Given the description of an element on the screen output the (x, y) to click on. 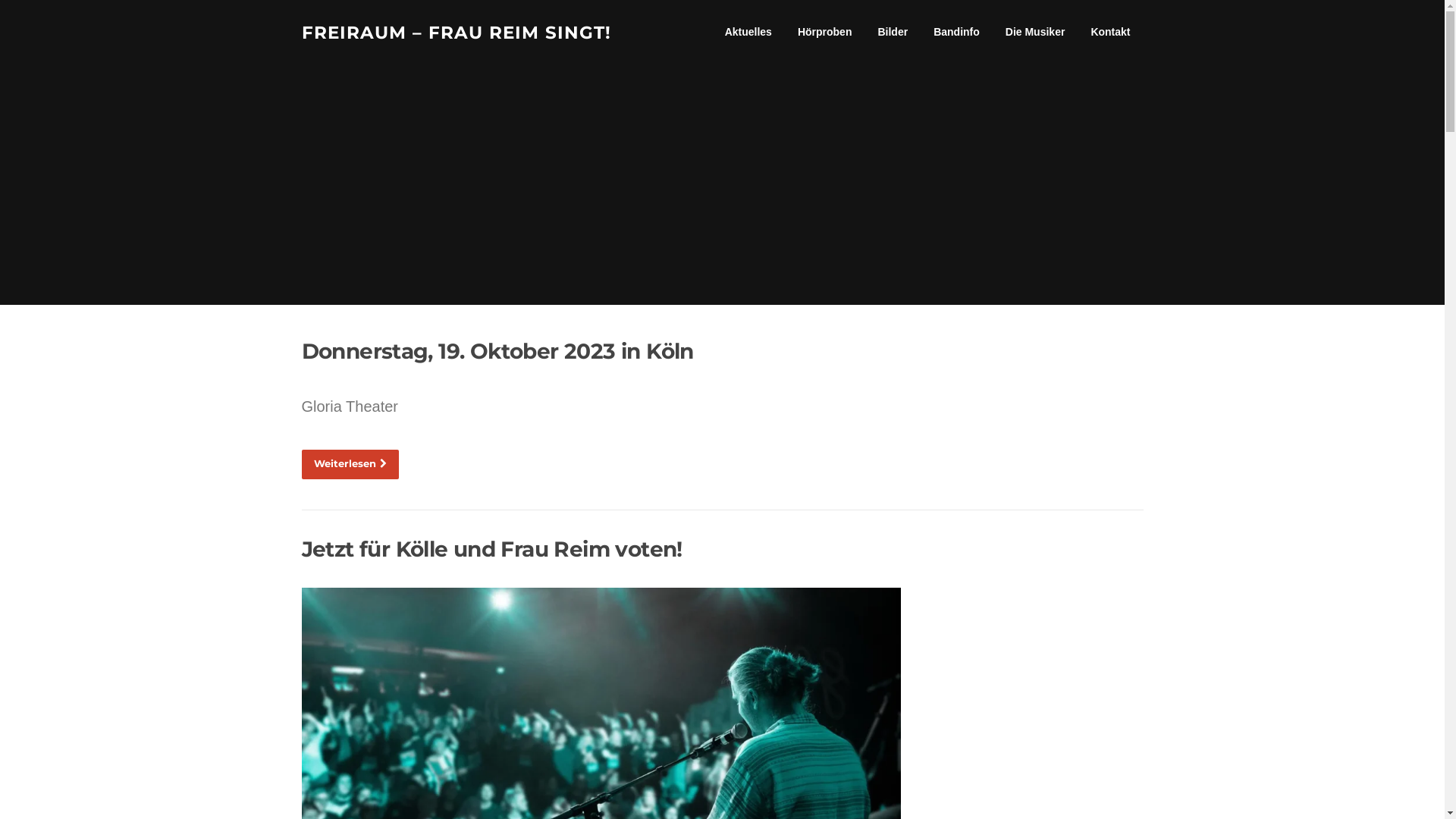
Aktuelles Element type: text (748, 32)
Kontakt Element type: text (1109, 32)
Bandinfo Element type: text (956, 32)
Die Musiker Element type: text (1035, 32)
Weiterlesen Element type: text (349, 464)
Bilder Element type: text (892, 32)
